Given the description of an element on the screen output the (x, y) to click on. 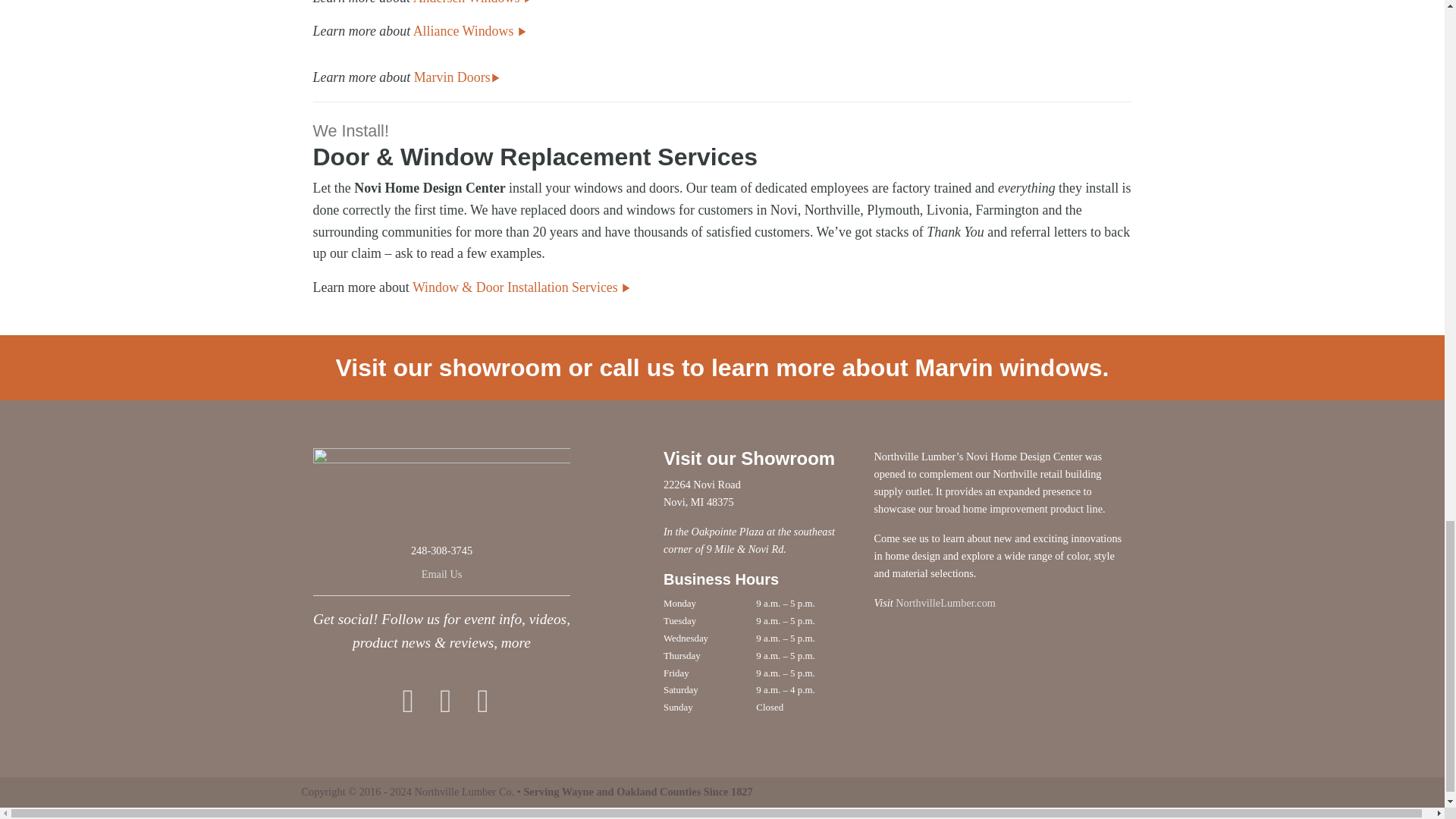
Email Us (442, 573)
NorthvilleLumber.com (945, 603)
